Given the description of an element on the screen output the (x, y) to click on. 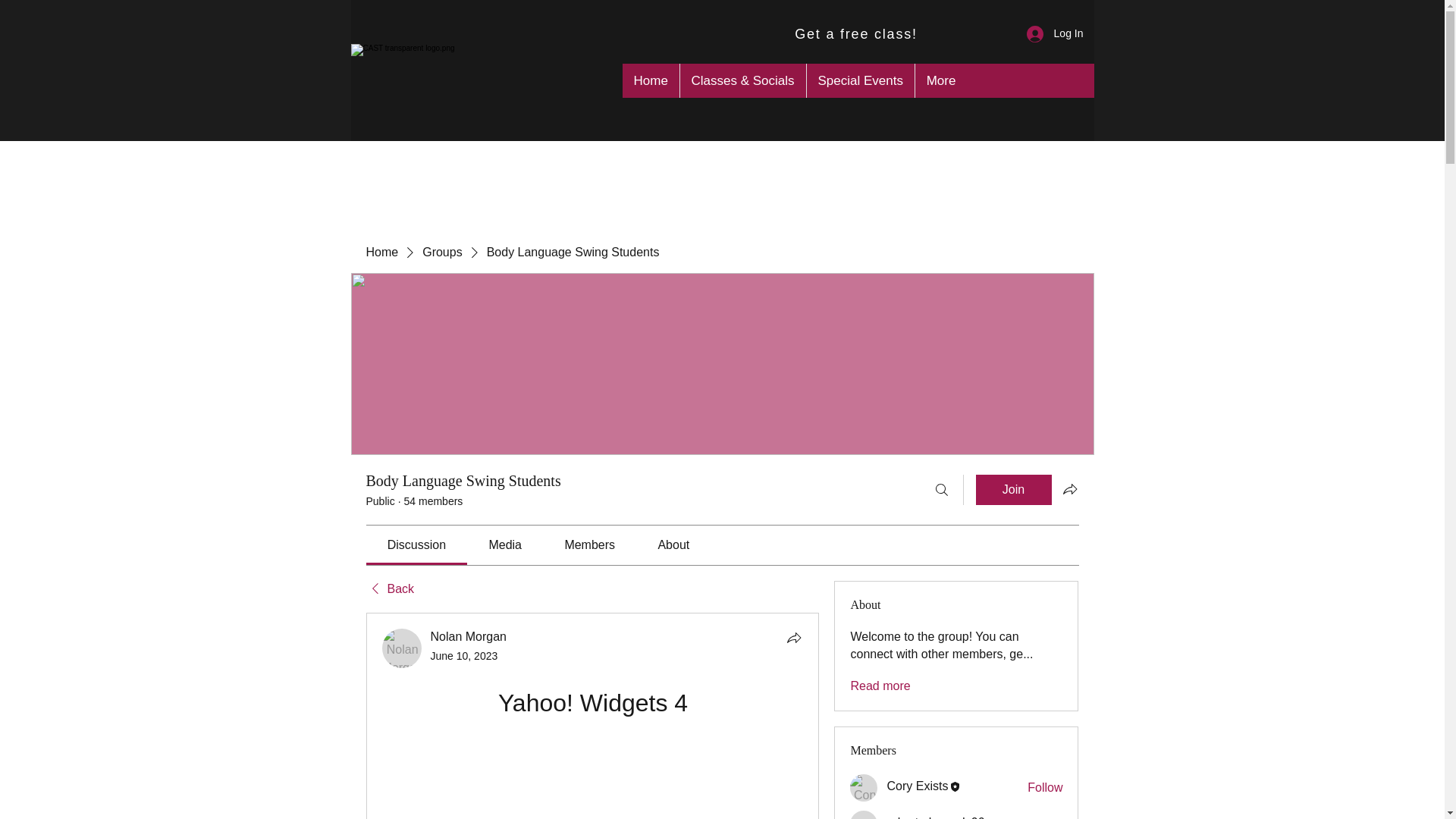
Home (381, 252)
Read more (880, 686)
Join (1013, 490)
Follow (1044, 817)
Home (649, 80)
Log In (1055, 33)
Special Events (859, 80)
June 10, 2023 (463, 655)
Groups (441, 252)
roberto.legends96 (935, 817)
Cory Exists (916, 785)
Get a free class! (858, 33)
Back (389, 588)
roberto.legends96 (863, 814)
Cory Exists (863, 787)
